Given the description of an element on the screen output the (x, y) to click on. 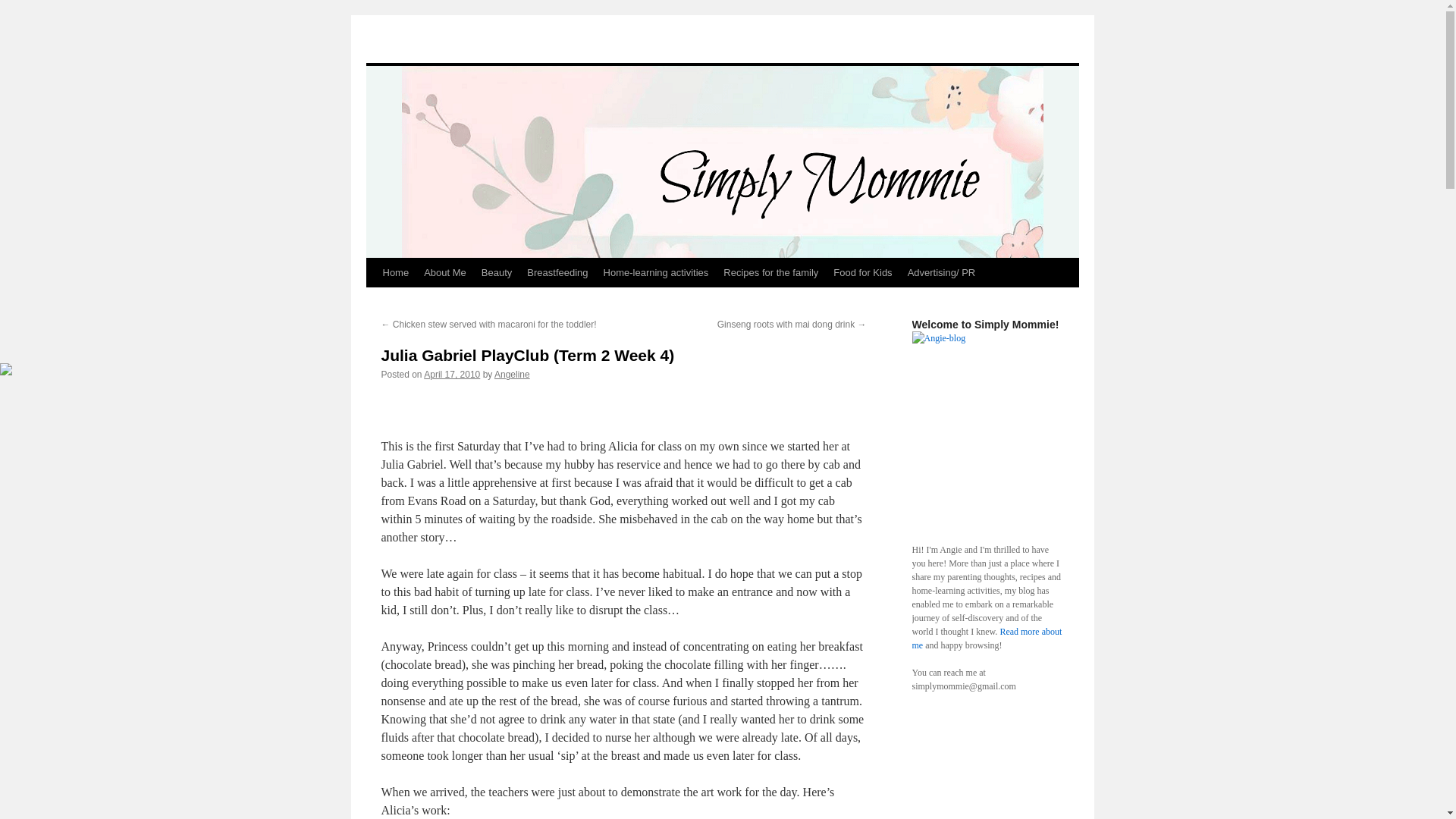
About Me (445, 272)
10:23 am (451, 374)
April 17, 2010 (451, 374)
Beauty (496, 272)
View all posts by Angeline (512, 374)
Read more about me (986, 638)
Home-learning activities (655, 272)
Recipes for the family (770, 272)
Angeline (512, 374)
Food for Kids (862, 272)
Breastfeeding (557, 272)
Home (395, 272)
